Given the description of an element on the screen output the (x, y) to click on. 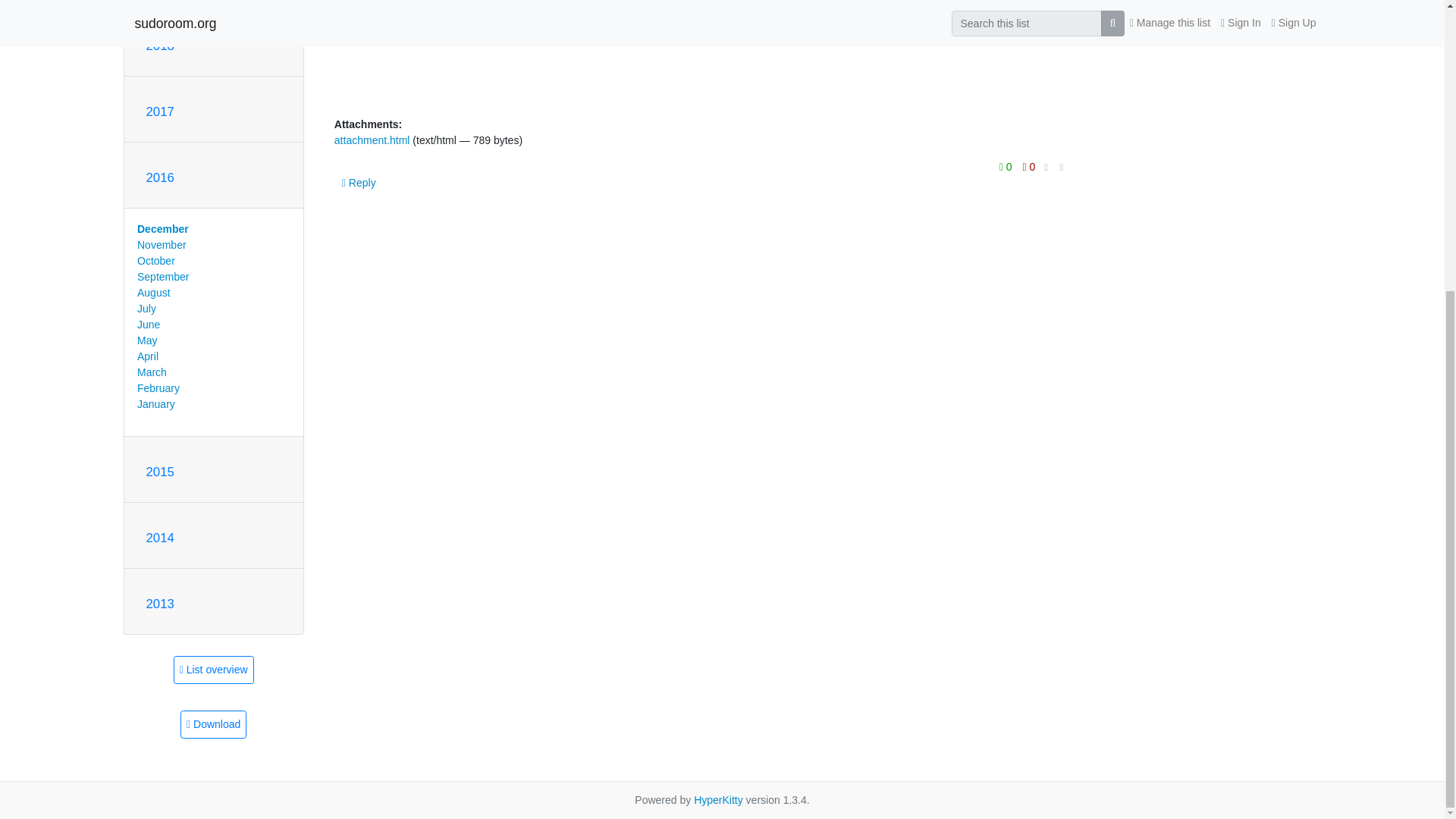
You must be logged-in to vote. (1029, 166)
This message in gzipped mbox format (213, 724)
You must be logged-in to vote. (1007, 166)
Sign in to reply online (359, 181)
